Given the description of an element on the screen output the (x, y) to click on. 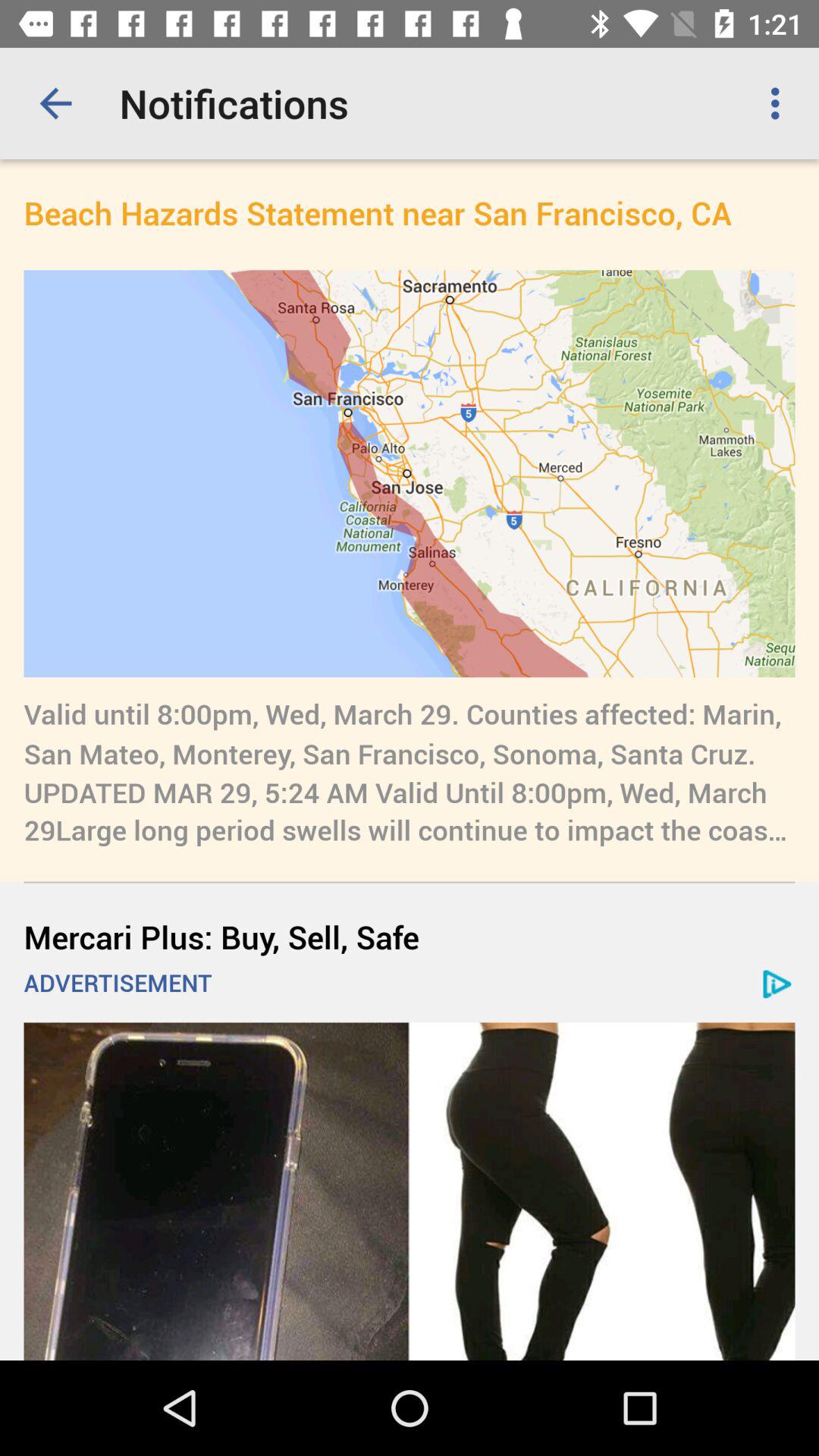
launch item above beach hazards statement item (55, 103)
